Given the description of an element on the screen output the (x, y) to click on. 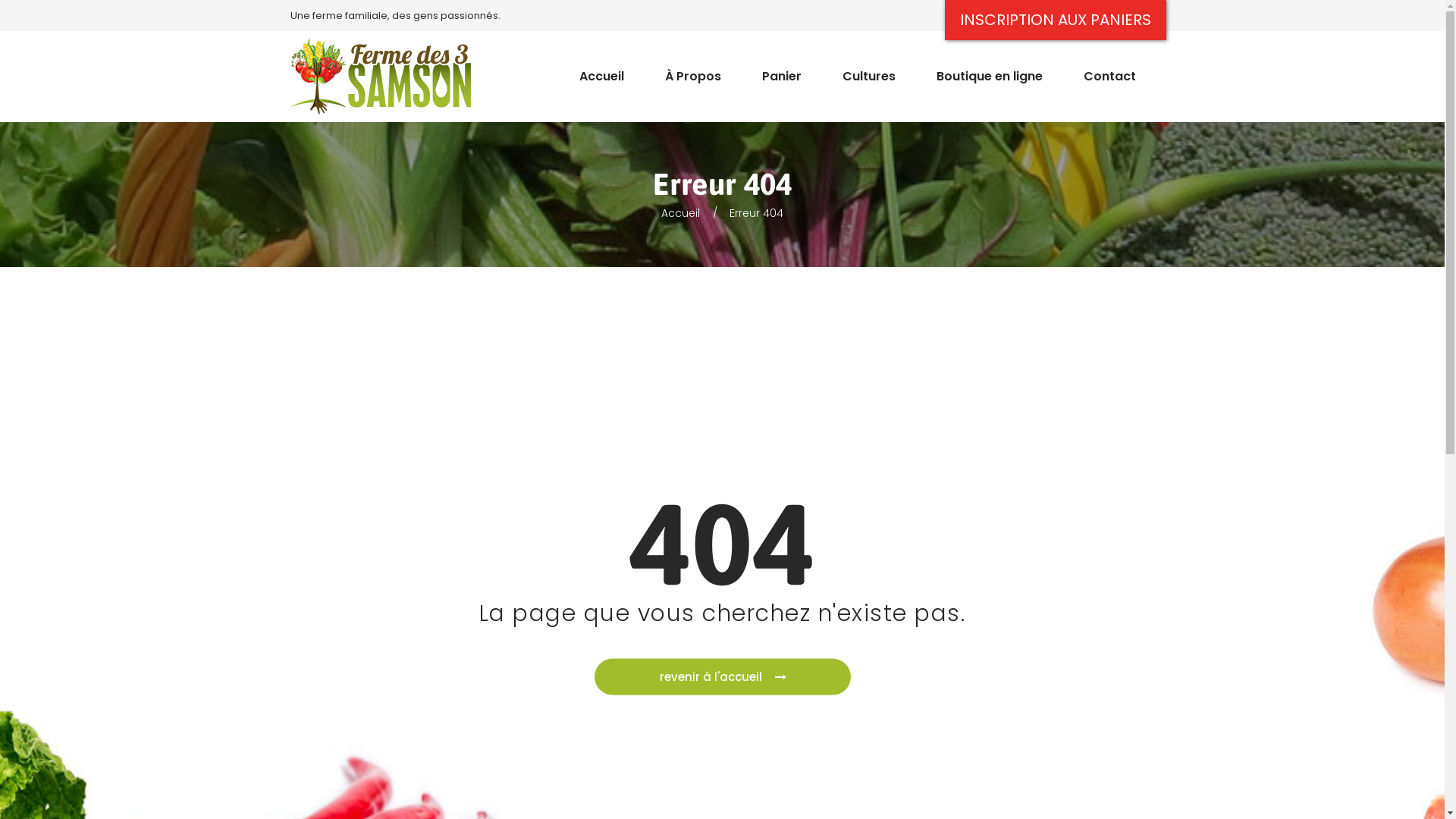
Accueil Element type: text (680, 212)
Contact Element type: text (1109, 68)
Boutique en ligne Element type: text (989, 68)
Cultures Element type: text (868, 68)
Panier Element type: text (781, 68)
Accueil Element type: text (600, 68)
